Given the description of an element on the screen output the (x, y) to click on. 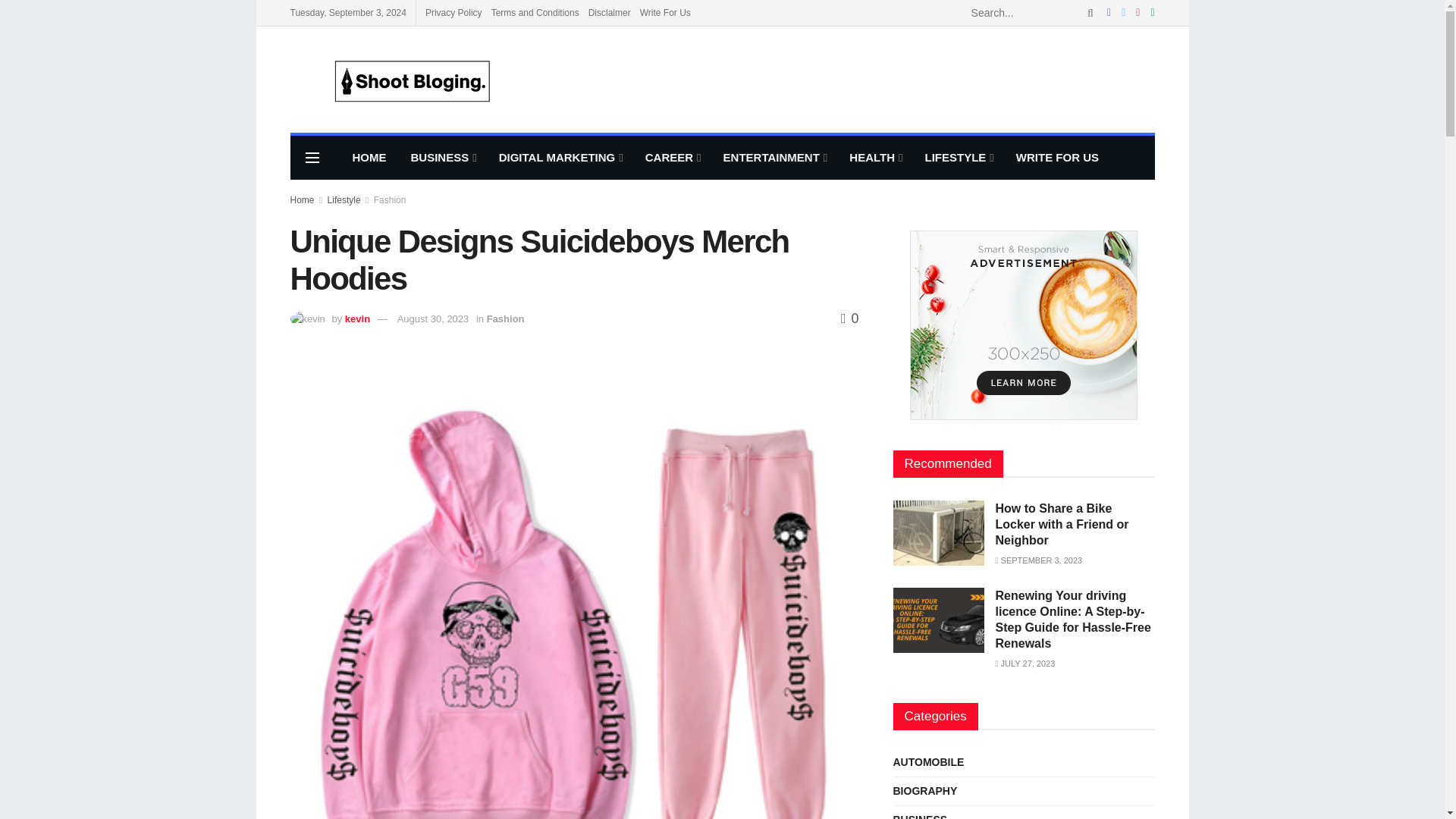
BUSINESS (442, 157)
HOME (368, 157)
Write For Us (665, 12)
Privacy Policy (453, 12)
Disclaimer (609, 12)
DIGITAL MARKETING (559, 157)
Advertisement (878, 77)
Terms and Conditions (535, 12)
